Given the description of an element on the screen output the (x, y) to click on. 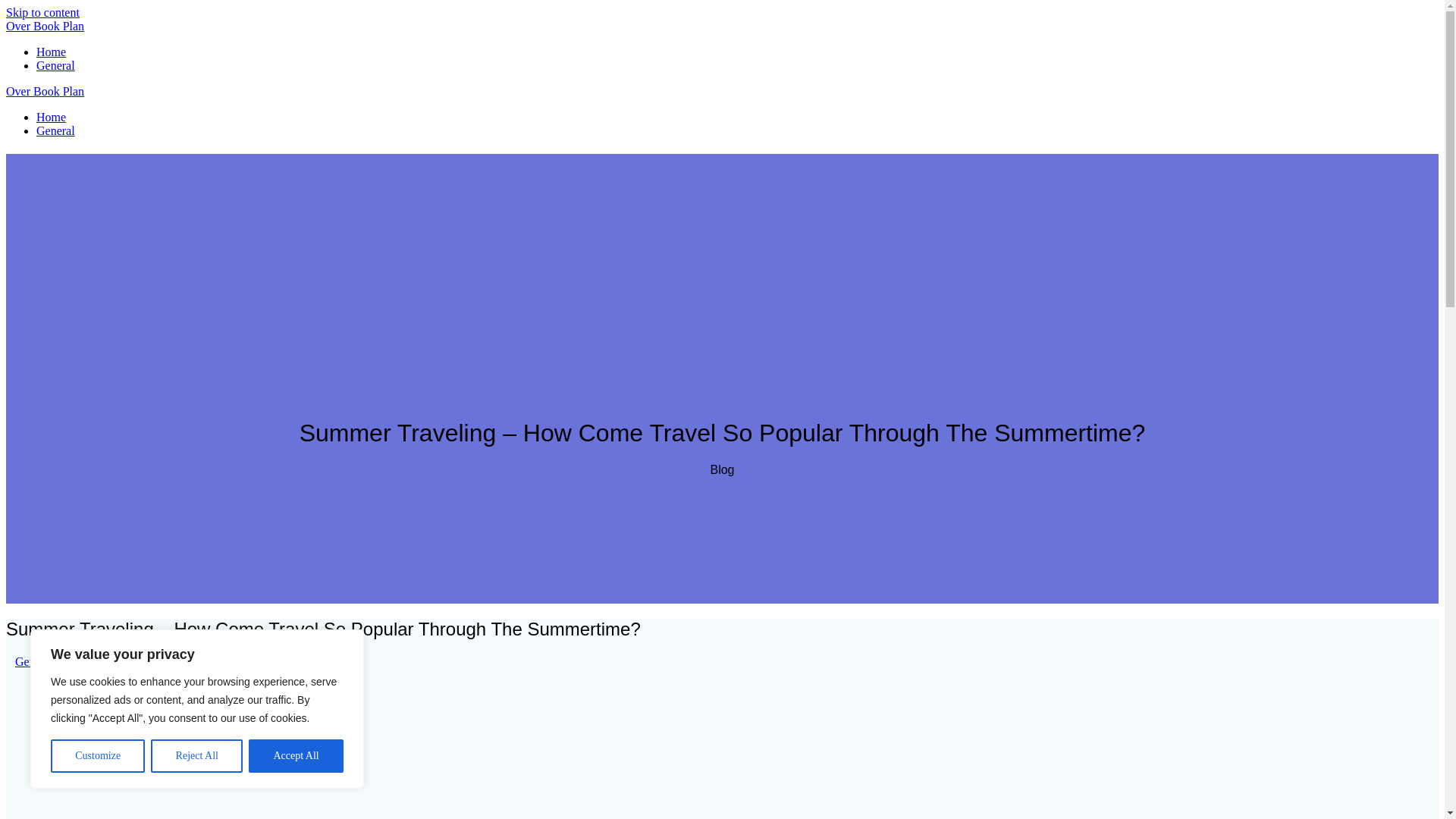
General (55, 130)
General (33, 661)
Over Book Plan (44, 91)
Customize (97, 756)
General (55, 65)
Over Book Plan (44, 25)
Skip to content (42, 11)
Accept All (295, 756)
Reject All (197, 756)
Home (50, 116)
